Given the description of an element on the screen output the (x, y) to click on. 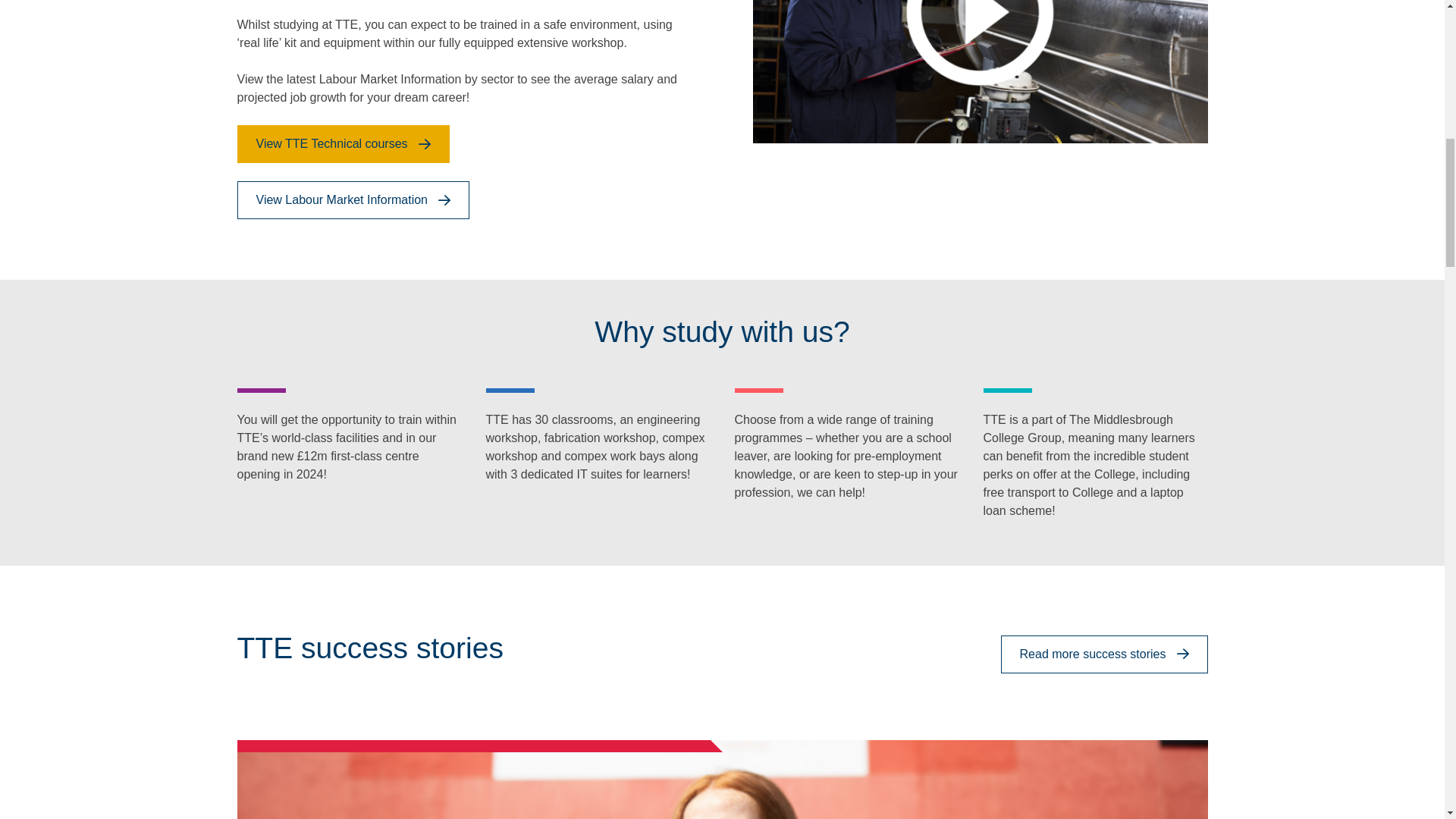
Play video (979, 21)
